Given the description of an element on the screen output the (x, y) to click on. 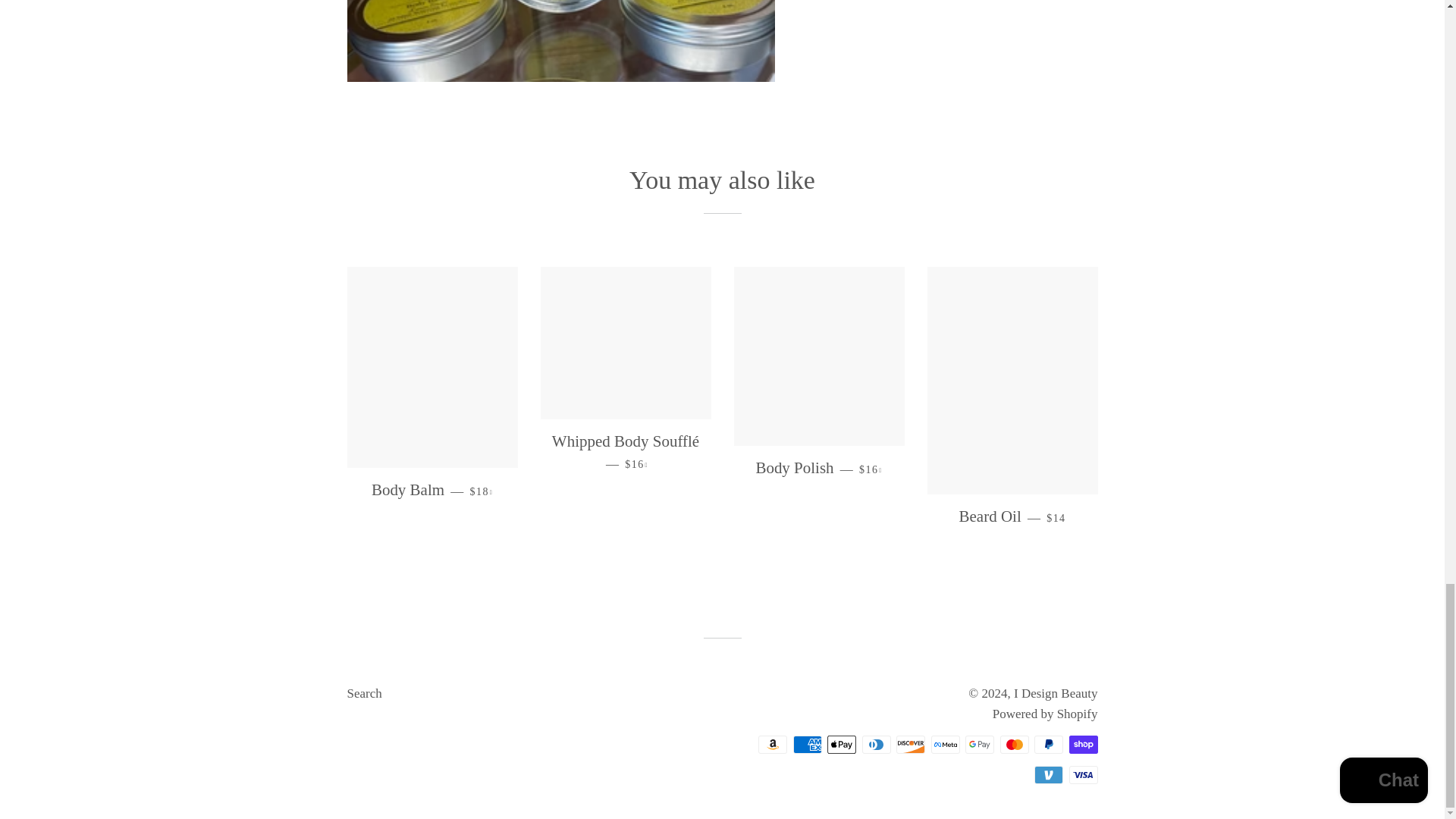
Apple Pay (841, 744)
Shop Pay (1082, 744)
Discover (910, 744)
Google Pay (979, 744)
Amazon (772, 744)
Diners Club (875, 744)
I Design Beauty (1055, 693)
PayPal (1047, 744)
Visa (1082, 774)
Venmo (1047, 774)
